Given the description of an element on the screen output the (x, y) to click on. 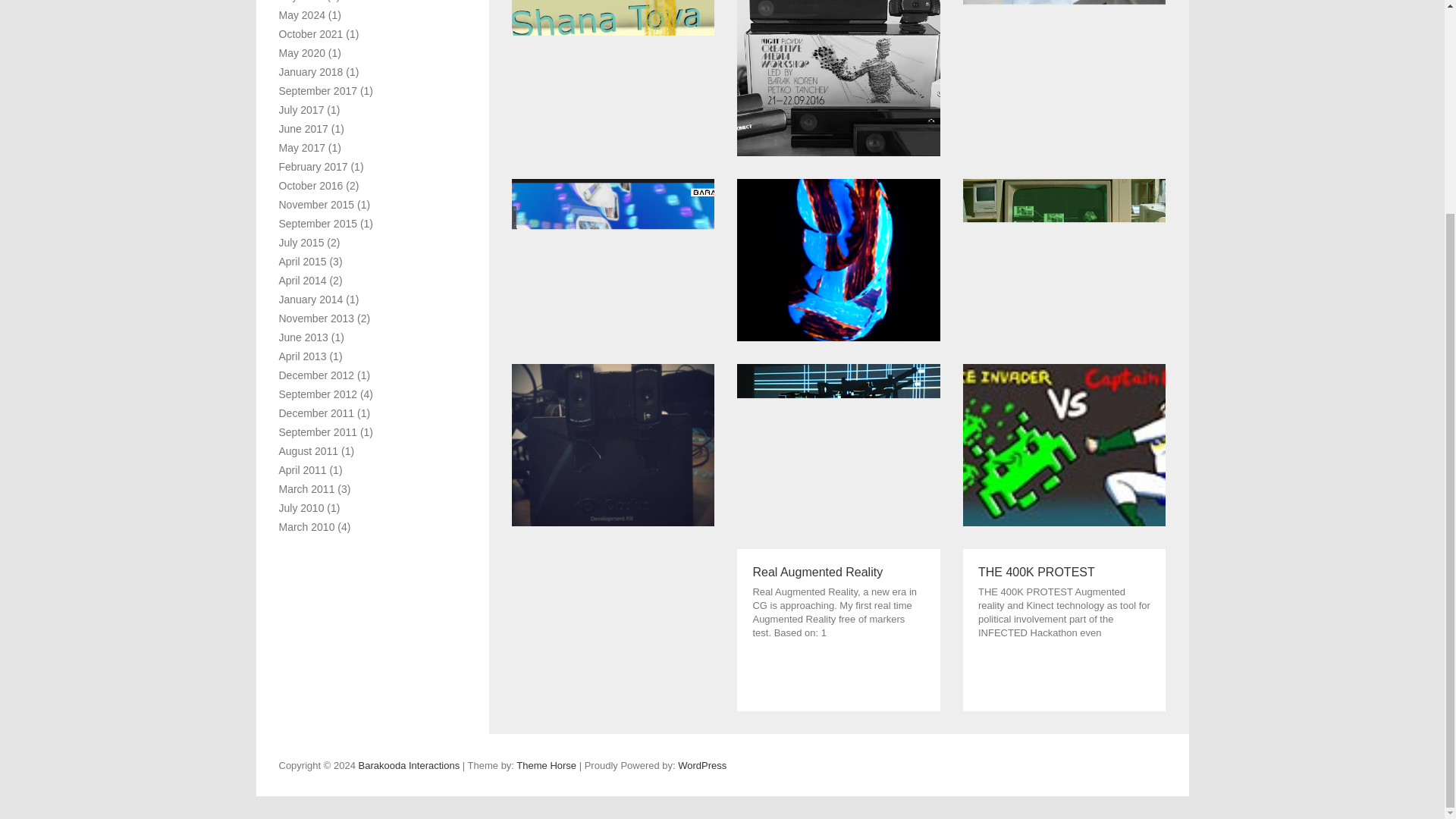
Augmented reality live stage First Prototype (1064, 78)
Real Augmented Reality (837, 629)
November 2015 (317, 204)
October 2016 (311, 185)
November 2013 (317, 318)
3D Projection mapping workflow. (837, 444)
Captain Cup draft Oculus version. (613, 444)
TouchDesigner Barakooda Examples I (1064, 260)
May 2020 (301, 52)
February 2017 (313, 166)
